Given the description of an element on the screen output the (x, y) to click on. 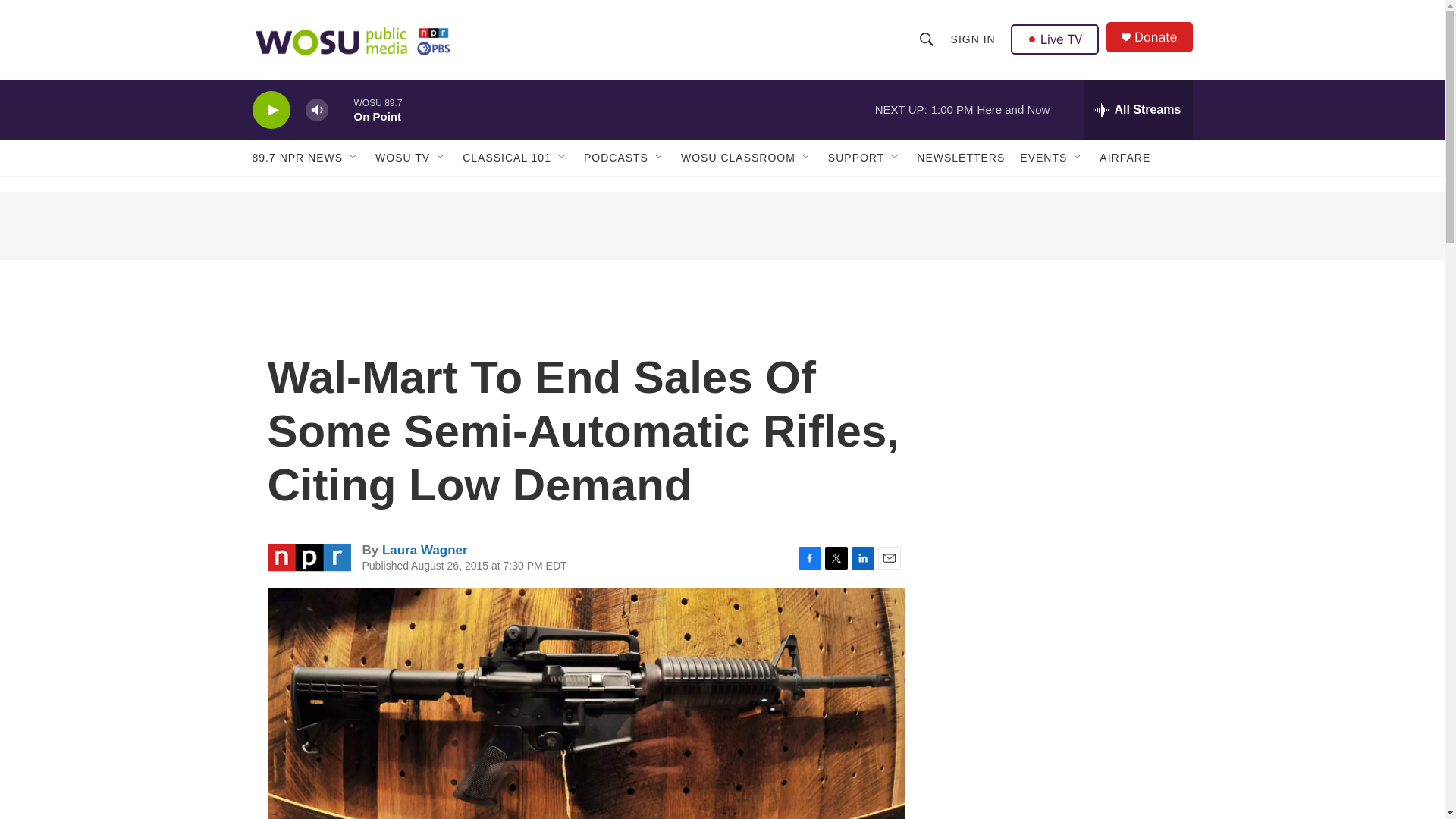
3rd party ad content (721, 225)
3rd party ad content (1062, 782)
3rd party ad content (1062, 400)
3rd party ad content (1062, 619)
